Given the description of an element on the screen output the (x, y) to click on. 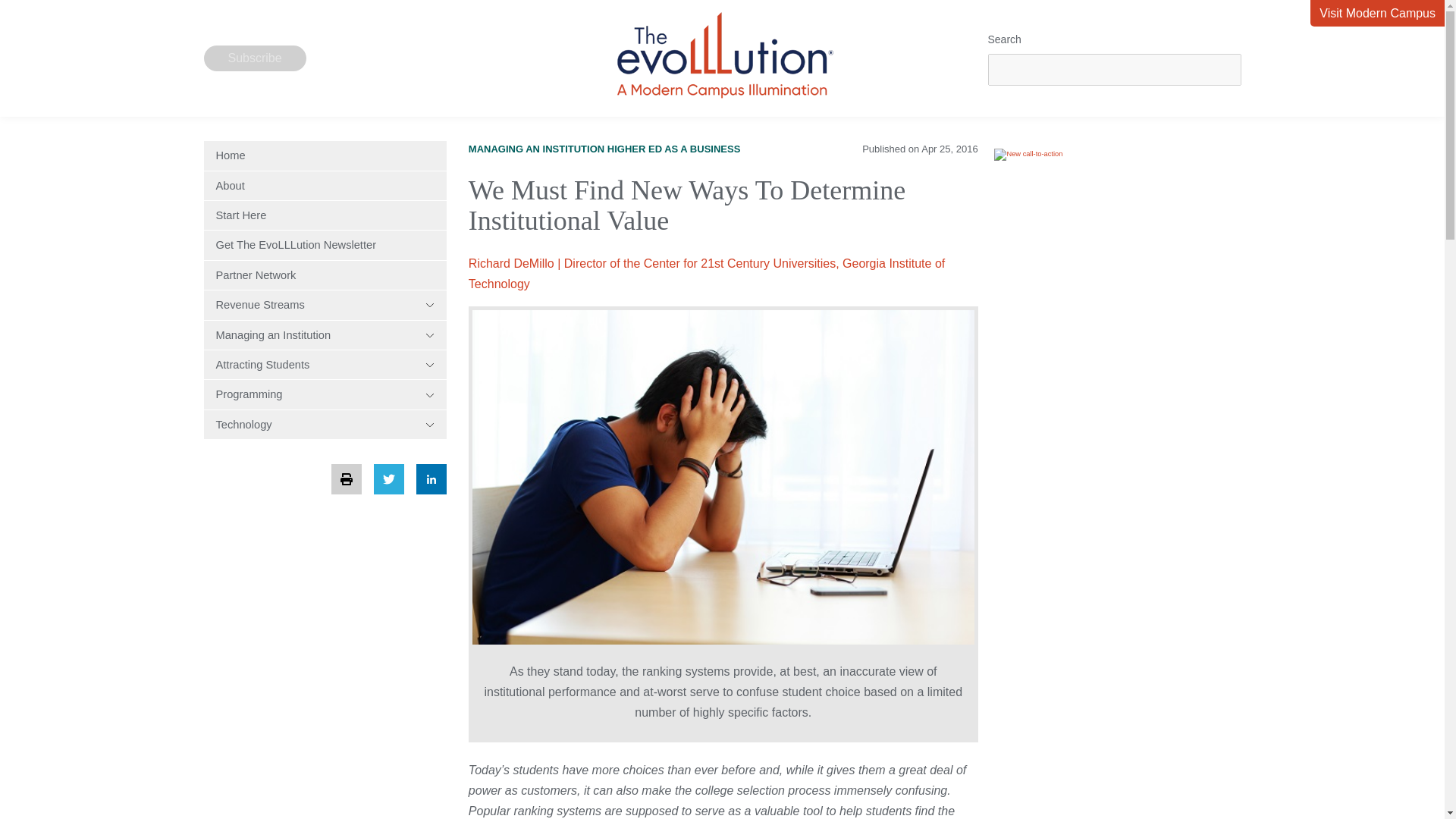
Start Here (324, 215)
Attracting Students (324, 364)
About (324, 185)
Get The EvoLLLution Newsletter (324, 244)
Programming (324, 394)
Subscribe (254, 58)
Managing an Institution (324, 335)
Partner Network (324, 275)
Revenue Streams (324, 304)
Home (324, 154)
